Given the description of an element on the screen output the (x, y) to click on. 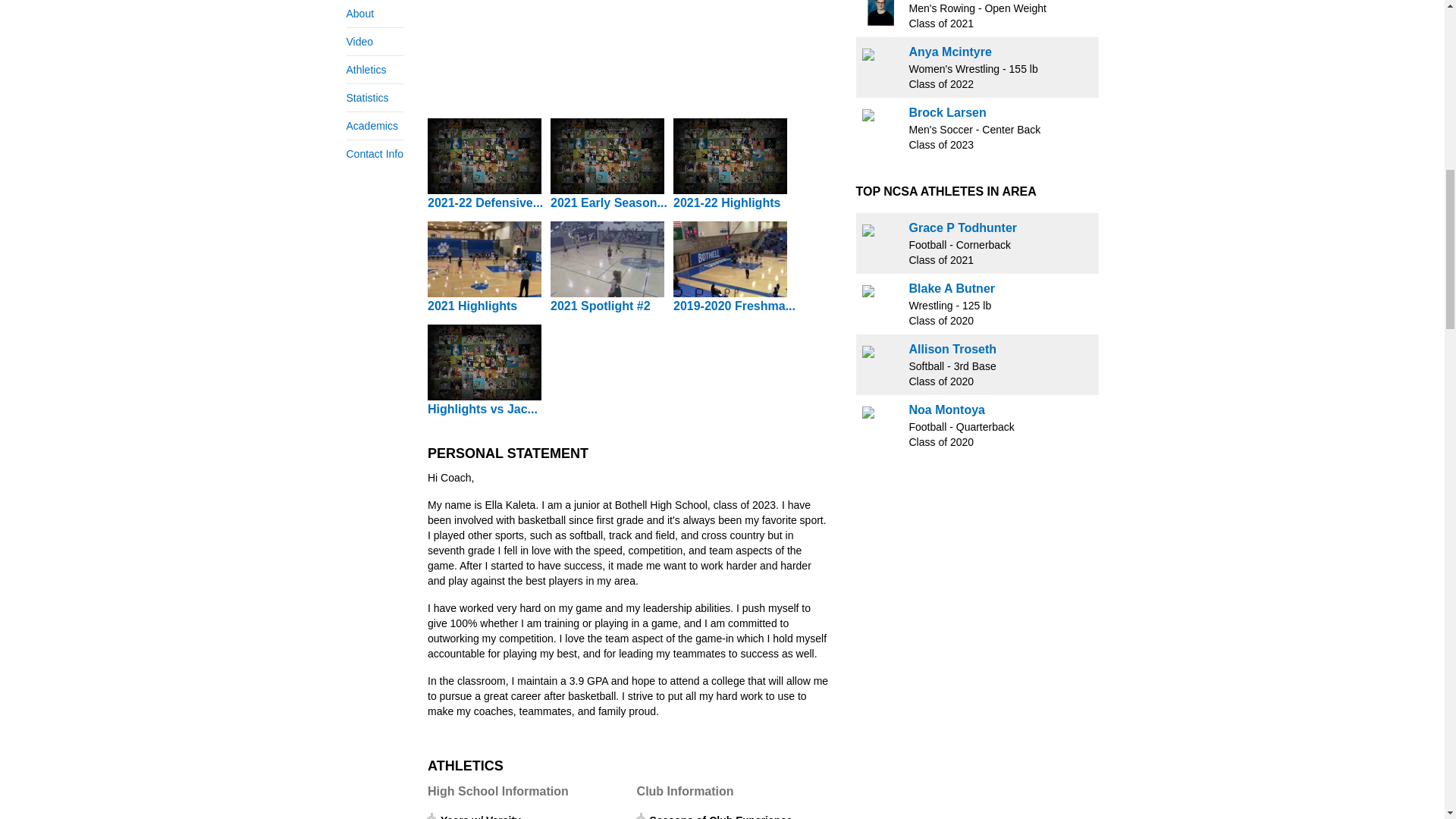
Anya Mcintyre (949, 51)
Blake A Butner (951, 287)
Brock Larsen (946, 112)
Allison Troseth (951, 349)
Noa Montoya (946, 409)
Grace P Todhunter (962, 227)
